Given the description of an element on the screen output the (x, y) to click on. 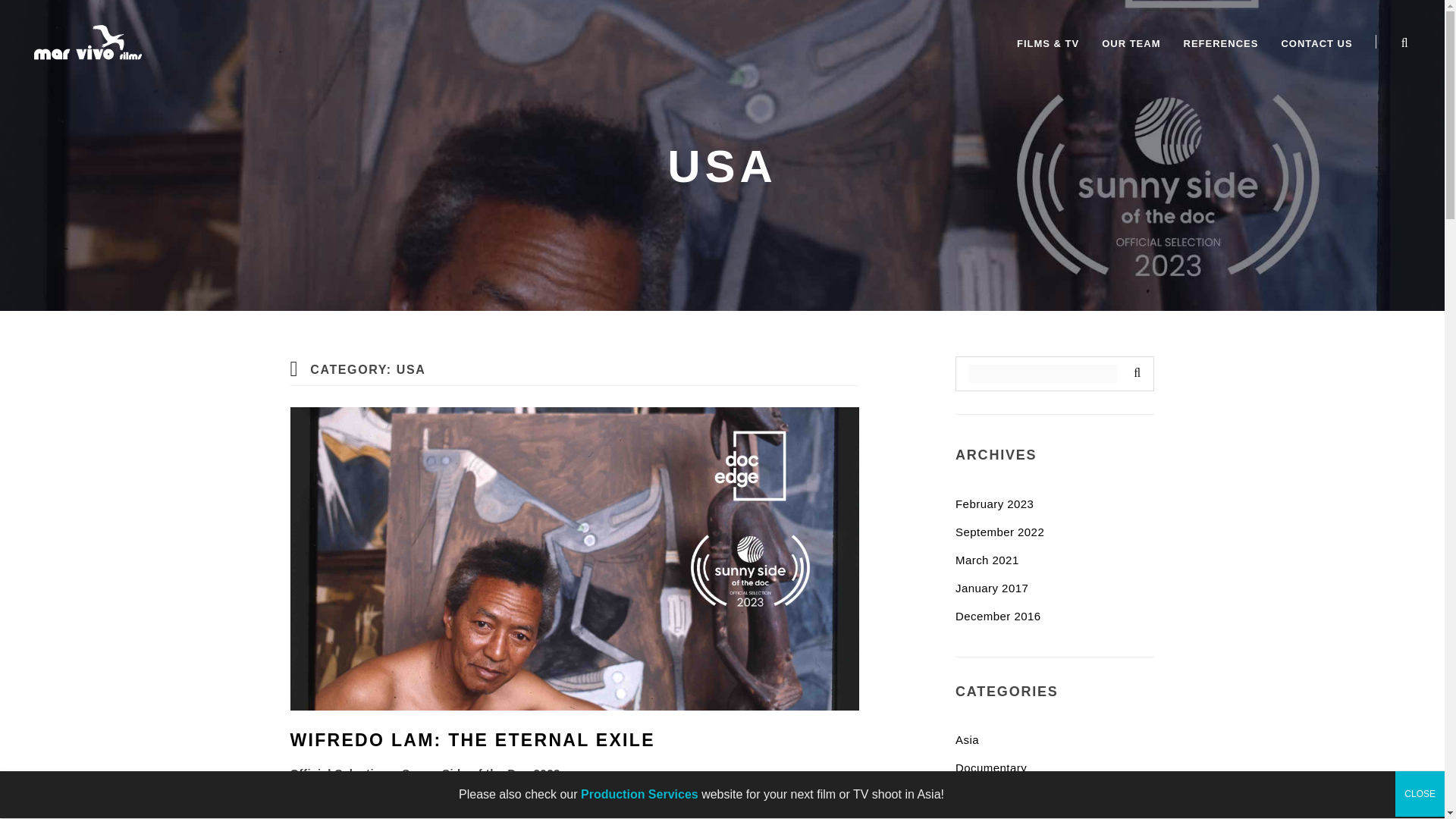
Documentary (990, 767)
CONTACT US (1315, 43)
Feature (976, 818)
Asia (966, 739)
OUR TEAM (1131, 43)
Search (1134, 373)
REFERENCES (1220, 43)
February 2023 (994, 503)
Search (1134, 373)
March 2021 (987, 559)
